Given the description of an element on the screen output the (x, y) to click on. 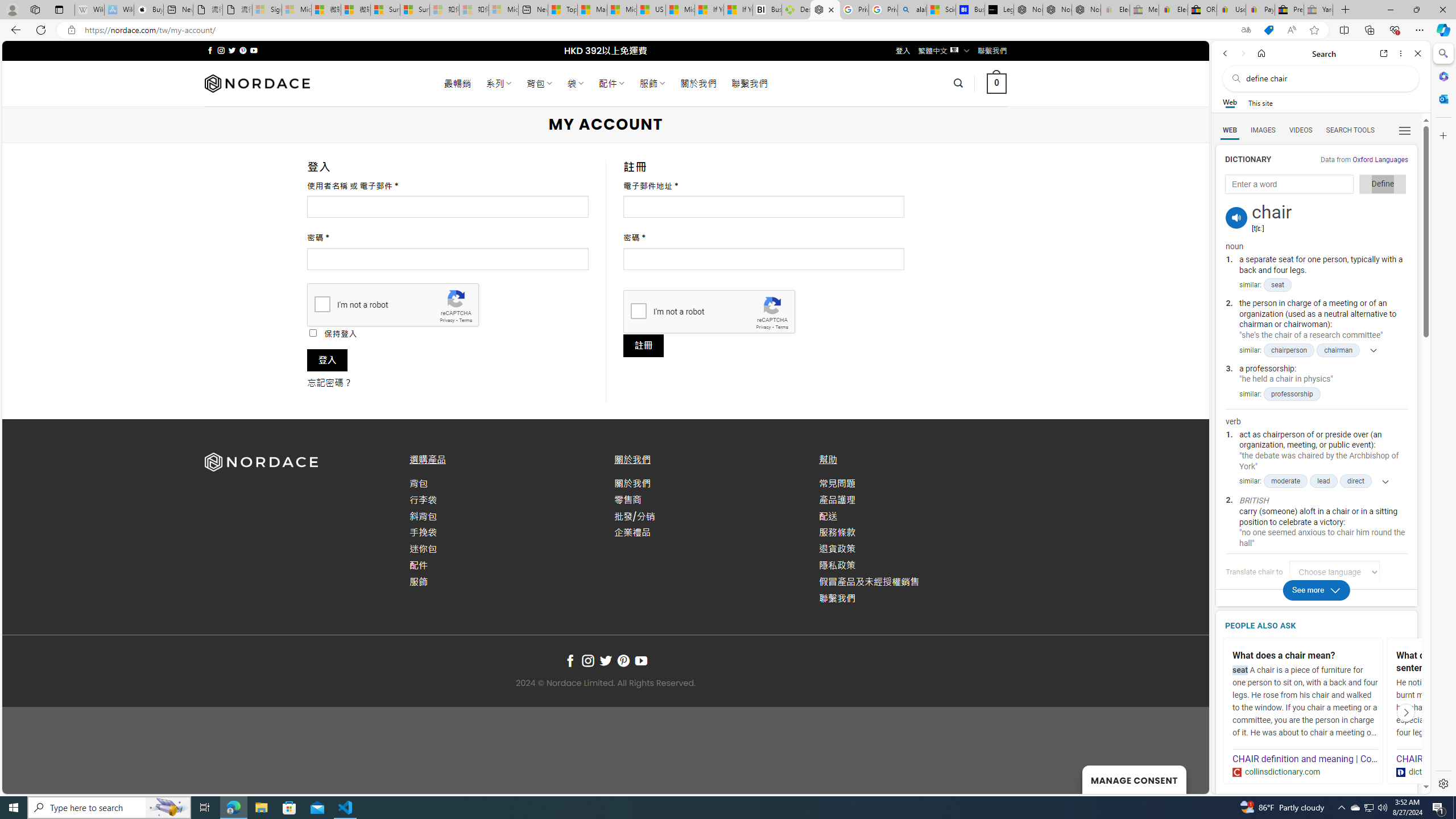
Link for logging (1338, 572)
Follow on Facebook (570, 660)
Define (1382, 184)
MANAGE CONSENT (1133, 779)
seat (1277, 285)
